Given the description of an element on the screen output the (x, y) to click on. 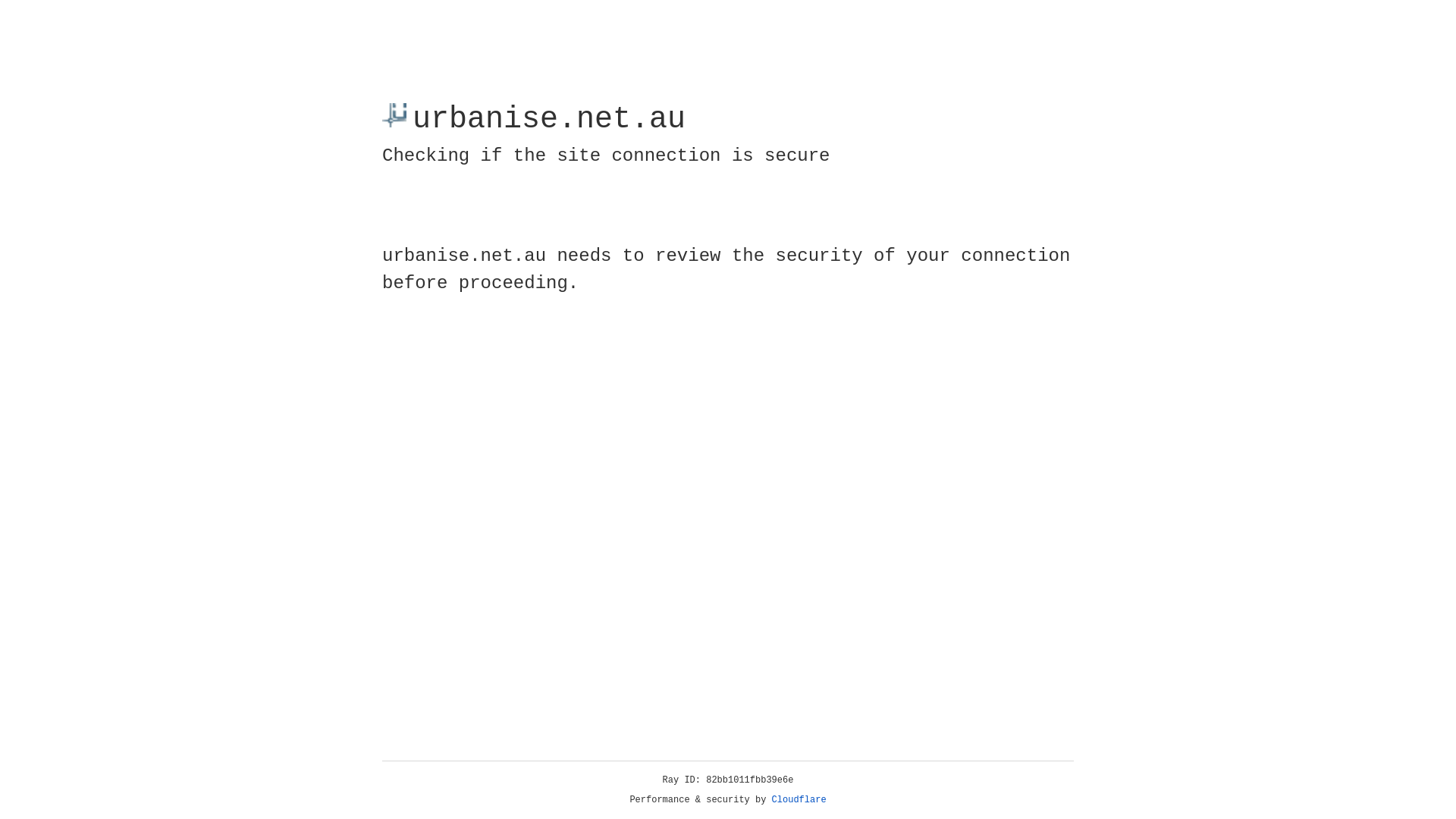
Cloudflare Element type: text (798, 799)
